Given the description of an element on the screen output the (x, y) to click on. 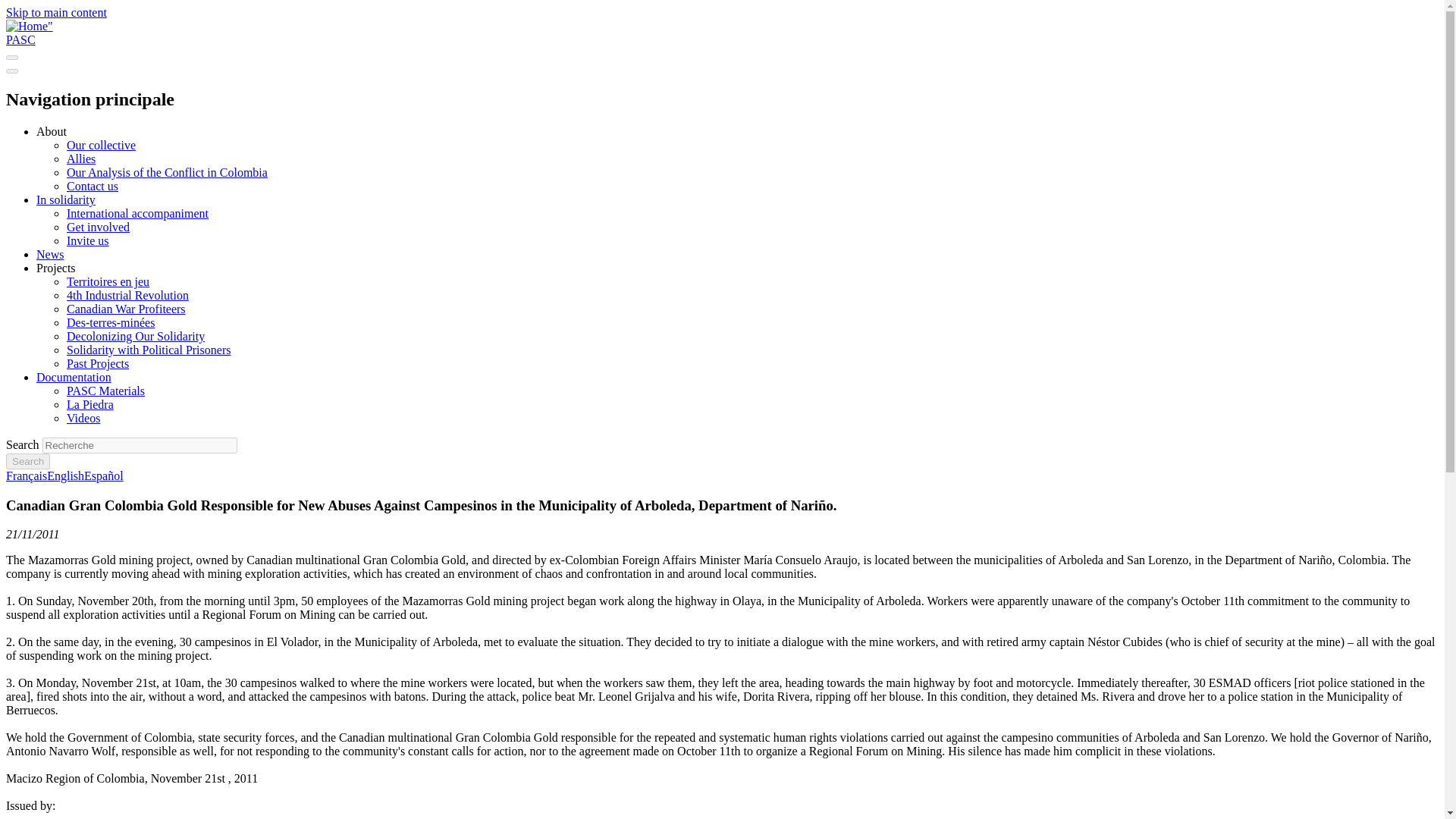
PASC Materials (105, 390)
English (65, 475)
Search (27, 461)
Our collective (100, 144)
4th Industrial Revolution (127, 295)
Videos (83, 418)
Our Analysis of the Conflict in Colombia (166, 172)
International accompaniment (137, 213)
Territoires en jeu (107, 281)
Canadian War Profiteers (126, 308)
Solidarity with Political Prisoners (148, 349)
In solidarity (66, 199)
La Piedra (89, 404)
Get involved (97, 226)
Contact us (91, 185)
